Given the description of an element on the screen output the (x, y) to click on. 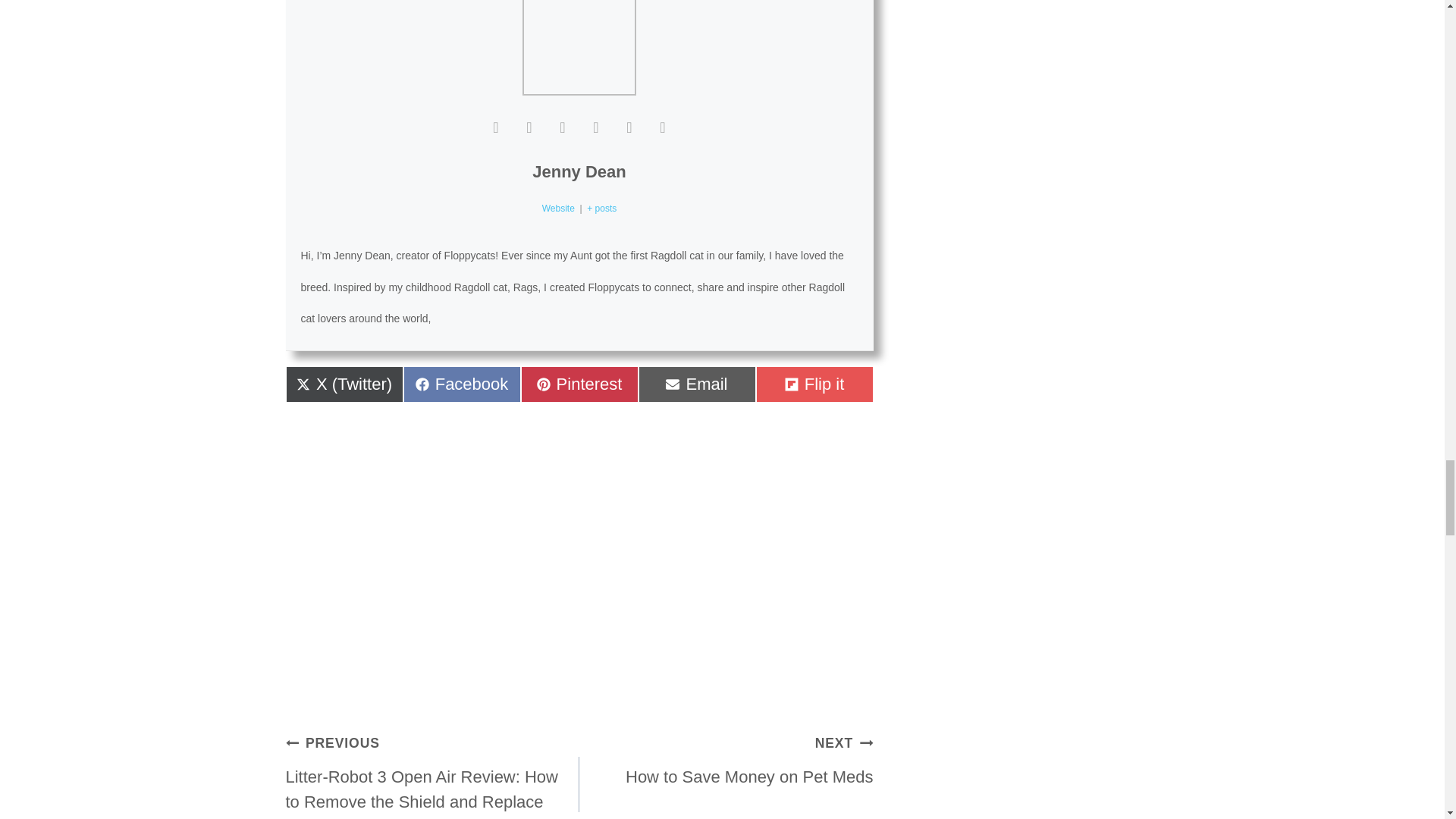
Website (558, 208)
Jenny Dean (578, 384)
